Given the description of an element on the screen output the (x, y) to click on. 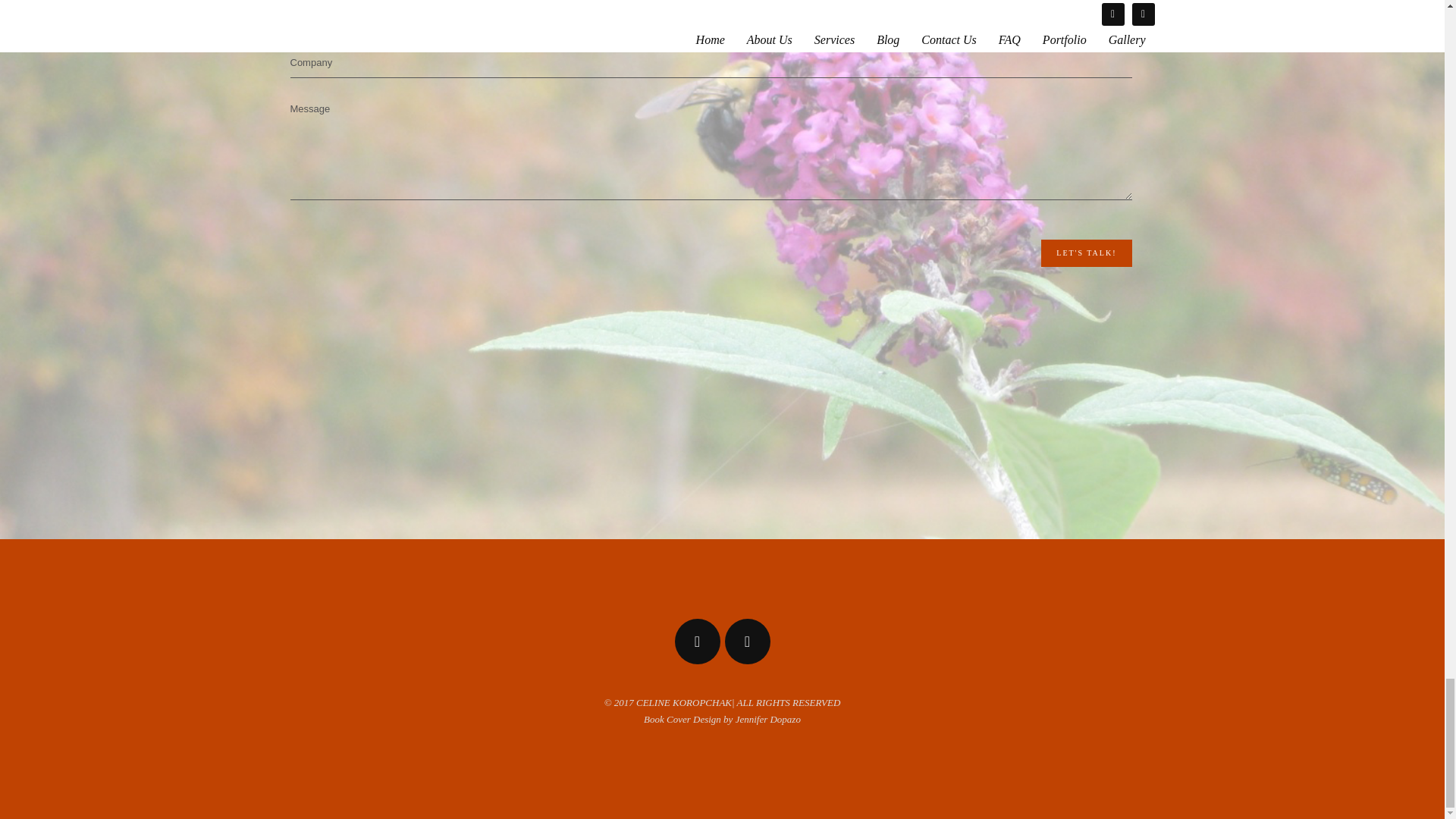
LET'S TALK! (1086, 252)
